Given the description of an element on the screen output the (x, y) to click on. 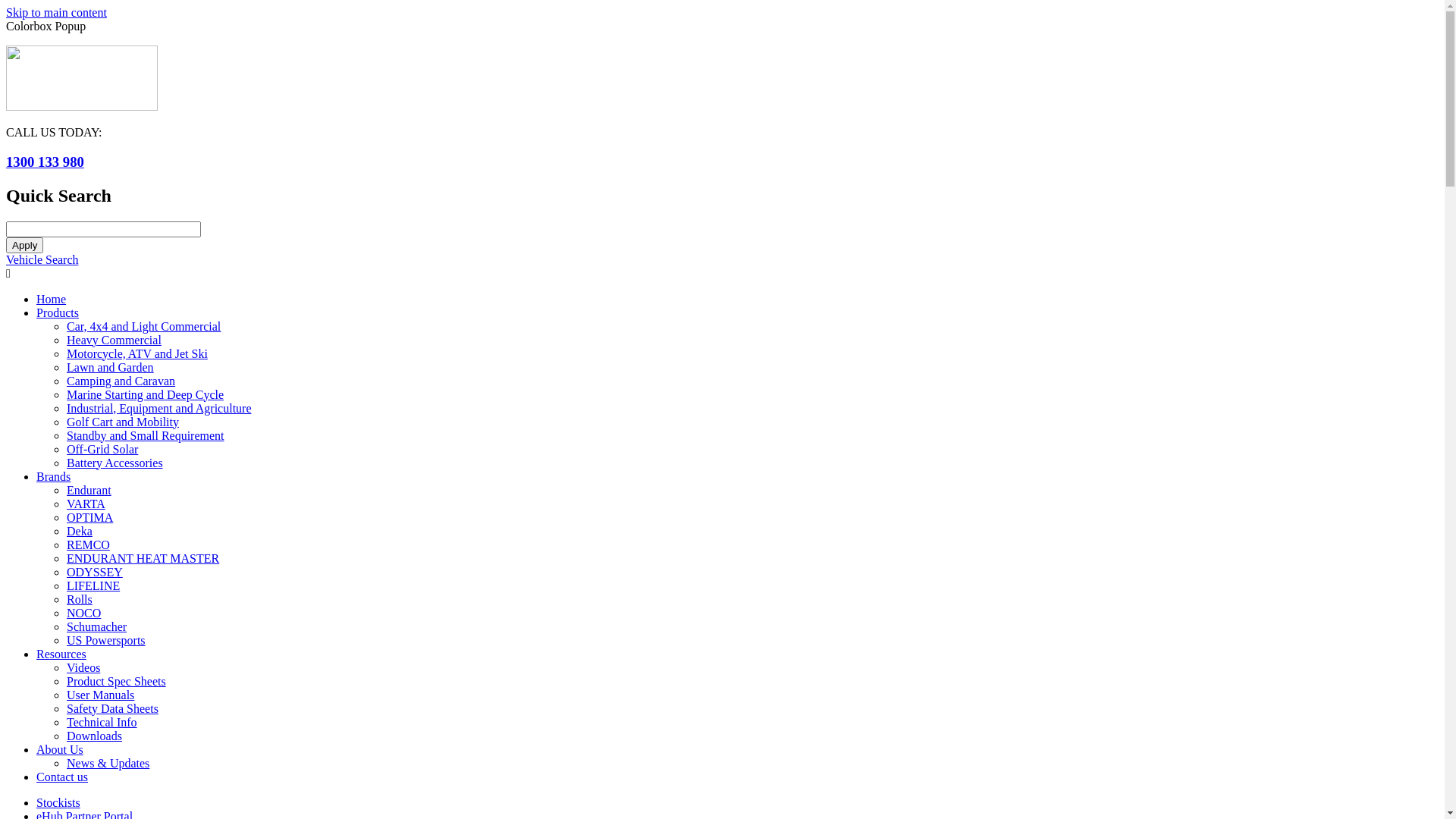
Golf Cart and Mobility Element type: text (122, 421)
Endurant Element type: text (88, 489)
Resources Element type: text (61, 653)
Deka Element type: text (79, 530)
Skip to main content Element type: text (56, 12)
Downloads Element type: text (94, 735)
News & Updates Element type: text (107, 762)
Rolls Element type: text (79, 599)
ODYSSEY Element type: text (94, 571)
Motorcycle, ATV and Jet Ski Element type: text (136, 353)
Product Spec Sheets Element type: text (116, 680)
Products Element type: text (57, 312)
Heavy Commercial Element type: text (113, 339)
Battery Accessories Element type: text (114, 462)
Schumacher Element type: text (96, 626)
Contact us Element type: text (61, 776)
Safety Data Sheets Element type: text (112, 708)
REMCO Element type: text (87, 544)
About Us Element type: text (59, 749)
1300 133 980 Element type: text (45, 161)
Camping and Caravan Element type: text (120, 380)
Videos Element type: text (83, 667)
Apply Element type: text (24, 245)
Industrial, Equipment and Agriculture Element type: text (158, 407)
Vehicle Search Element type: text (42, 259)
ENDURANT HEAT MASTER Element type: text (142, 558)
Car, 4x4 and Light Commercial Element type: text (143, 326)
Technical Info Element type: text (101, 721)
US Powersports Element type: text (105, 639)
NOCO Element type: text (83, 612)
Standby and Small Requirement Element type: text (145, 435)
Lawn and Garden Element type: text (109, 366)
Stockists Element type: text (58, 802)
Brands Element type: text (53, 476)
OPTIMA Element type: text (89, 517)
Marine Starting and Deep Cycle Element type: text (144, 394)
User Manuals Element type: text (100, 694)
VARTA Element type: text (85, 503)
Off-Grid Solar Element type: text (102, 448)
LIFELINE Element type: text (92, 585)
Home Element type: text (50, 298)
